Given the description of an element on the screen output the (x, y) to click on. 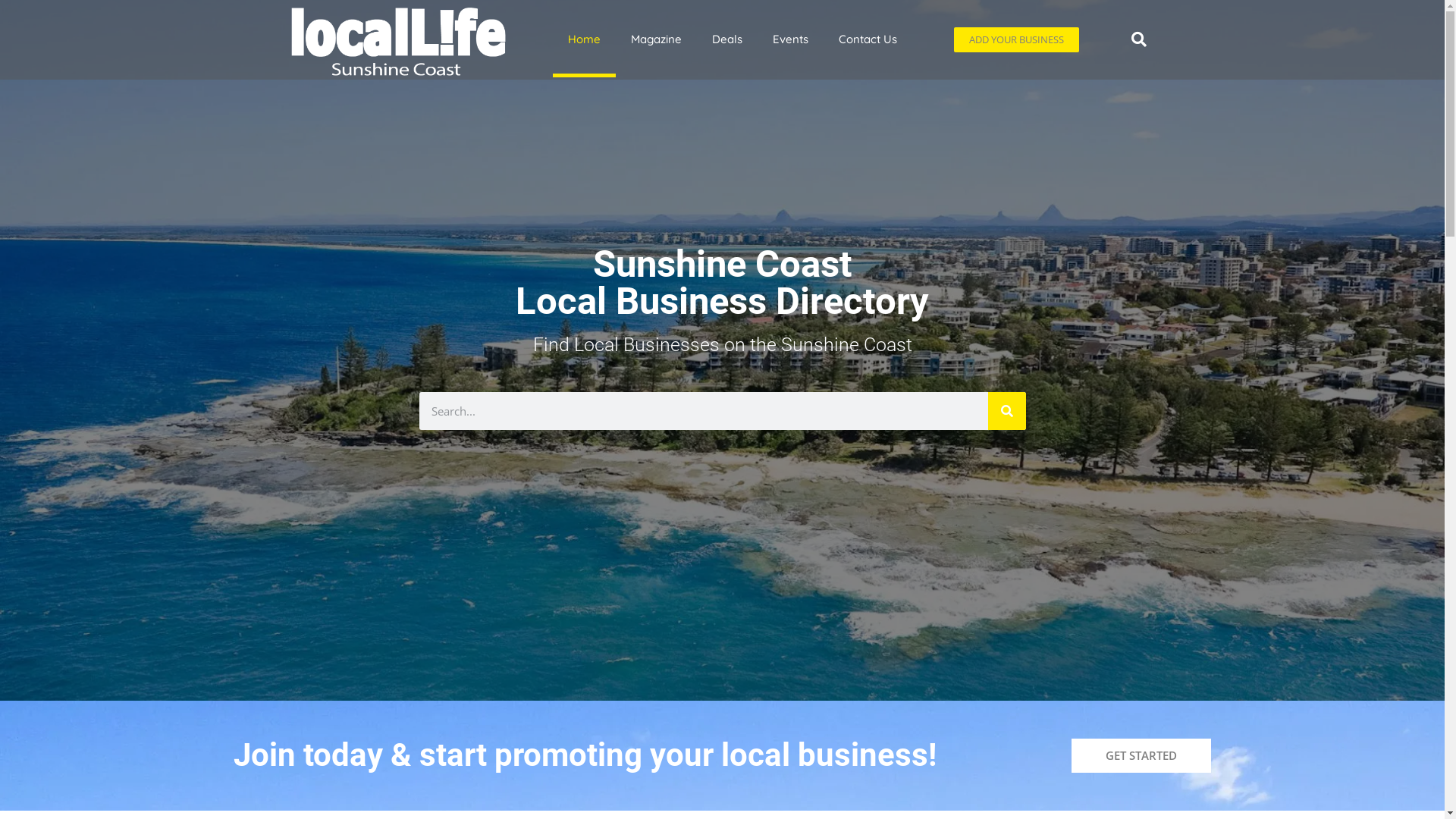
GET STARTED Element type: text (1141, 755)
Deals Element type: text (726, 39)
Events Element type: text (790, 39)
Magazine Element type: text (655, 39)
Home Element type: text (583, 39)
Contact Us Element type: text (867, 39)
ADD YOUR BUSINESS Element type: text (1016, 39)
